Given the description of an element on the screen output the (x, y) to click on. 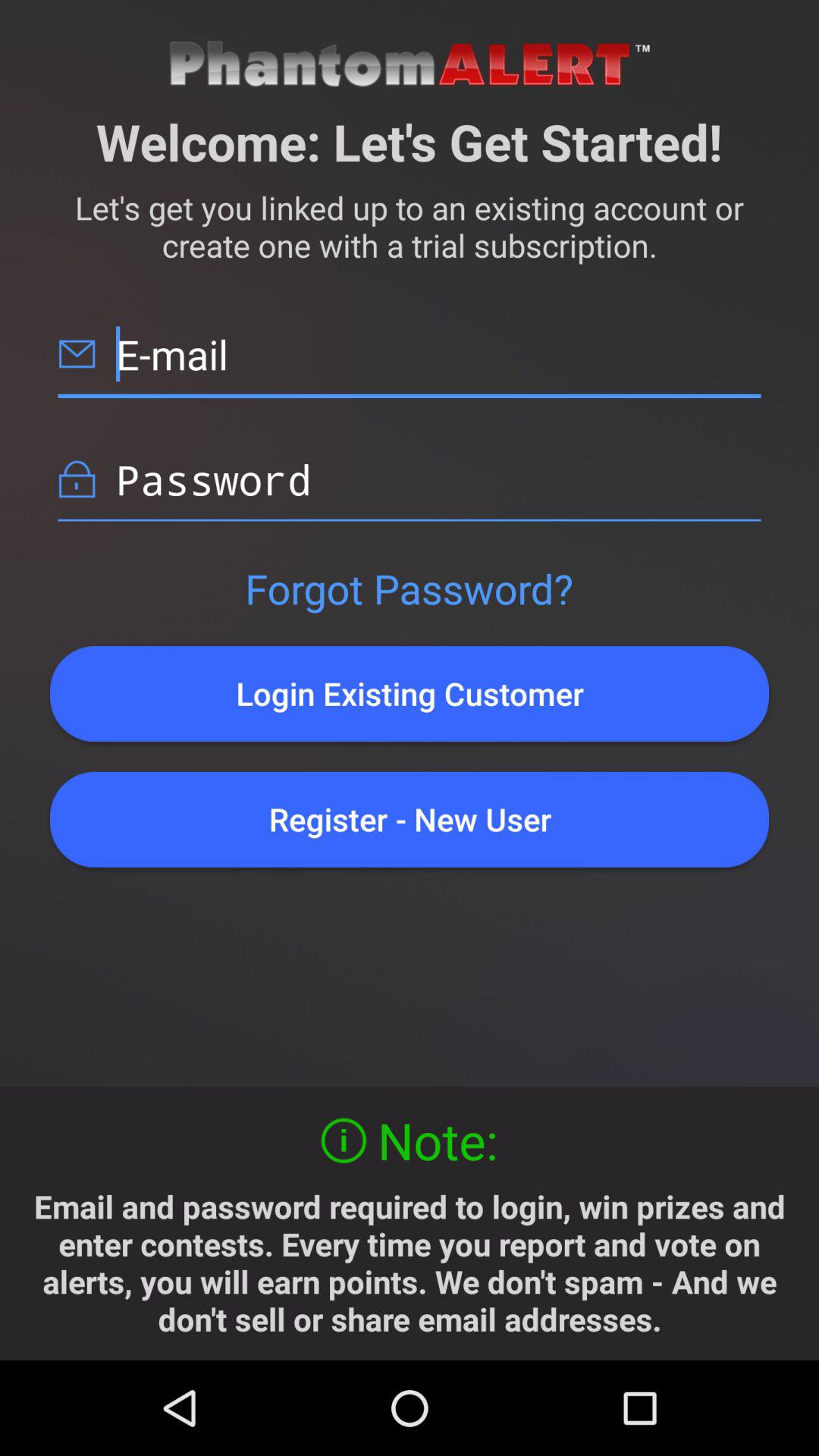
jump until the login existing customer (409, 693)
